Given the description of an element on the screen output the (x, y) to click on. 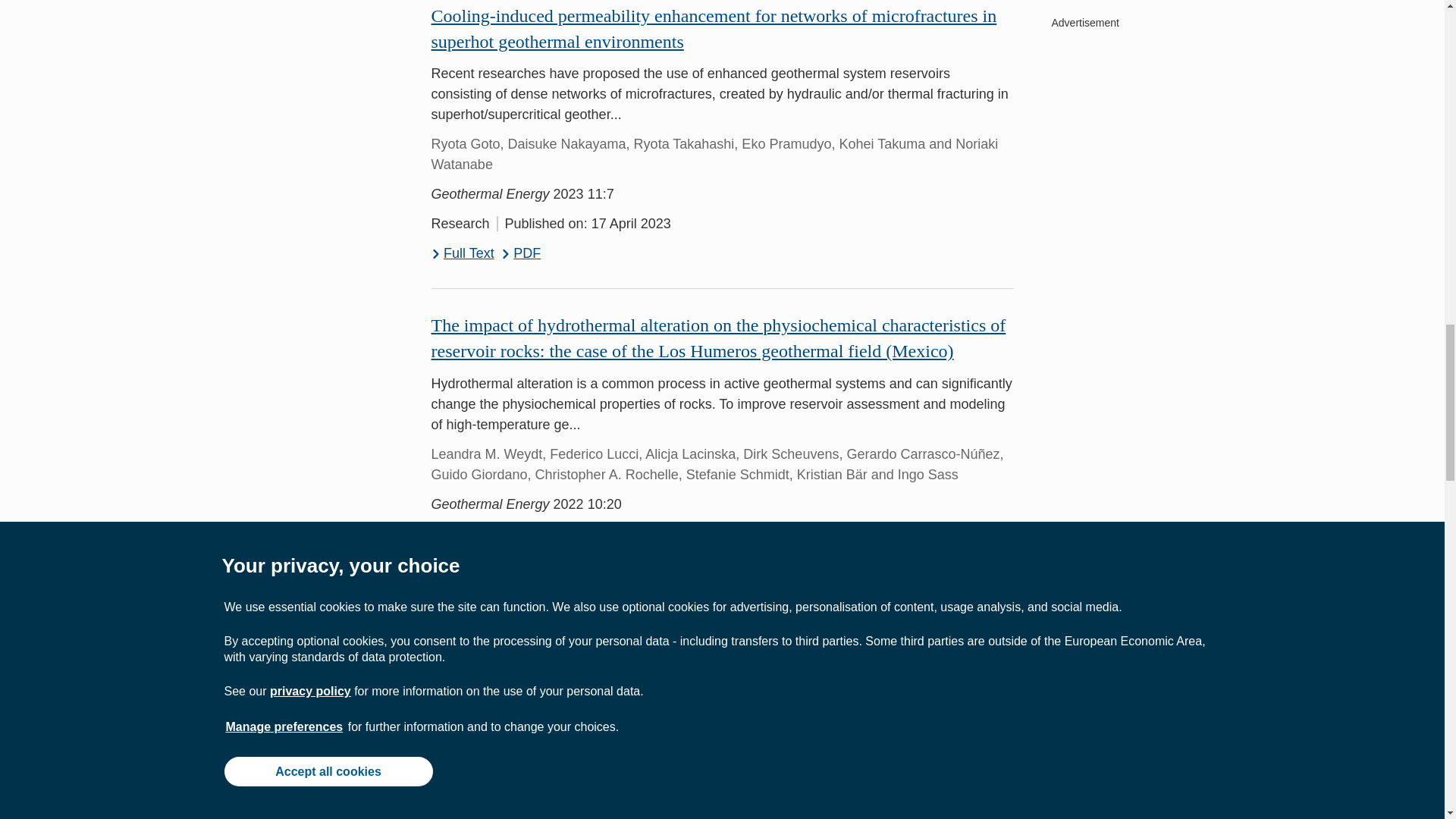
PDF (520, 590)
Full Text (461, 590)
PDF (520, 253)
Full Text (461, 253)
Correction to this article (537, 562)
